Given the description of an element on the screen output the (x, y) to click on. 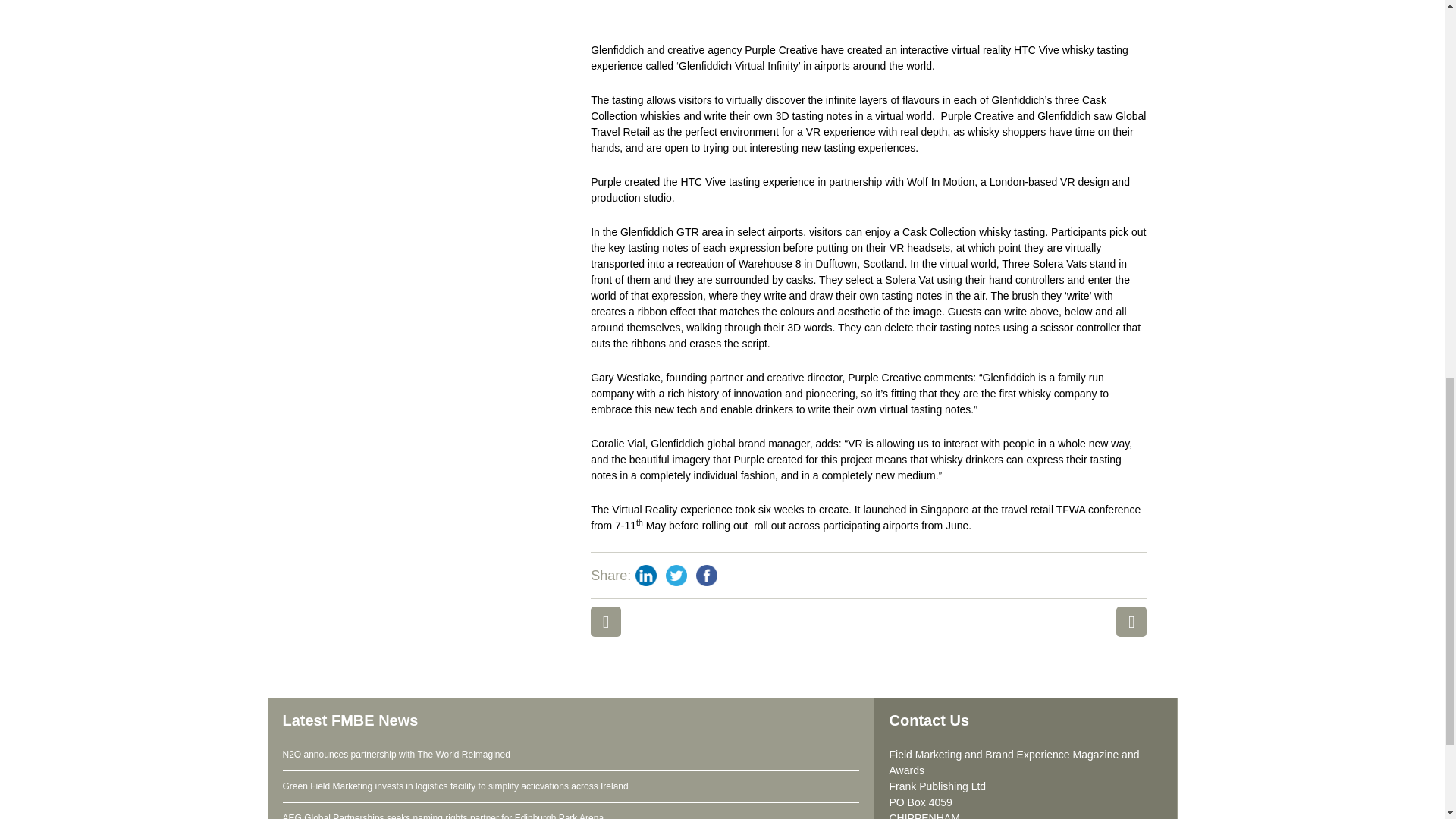
Twitter (676, 575)
LinkedIn (645, 575)
Facebook (706, 575)
